Given the description of an element on the screen output the (x, y) to click on. 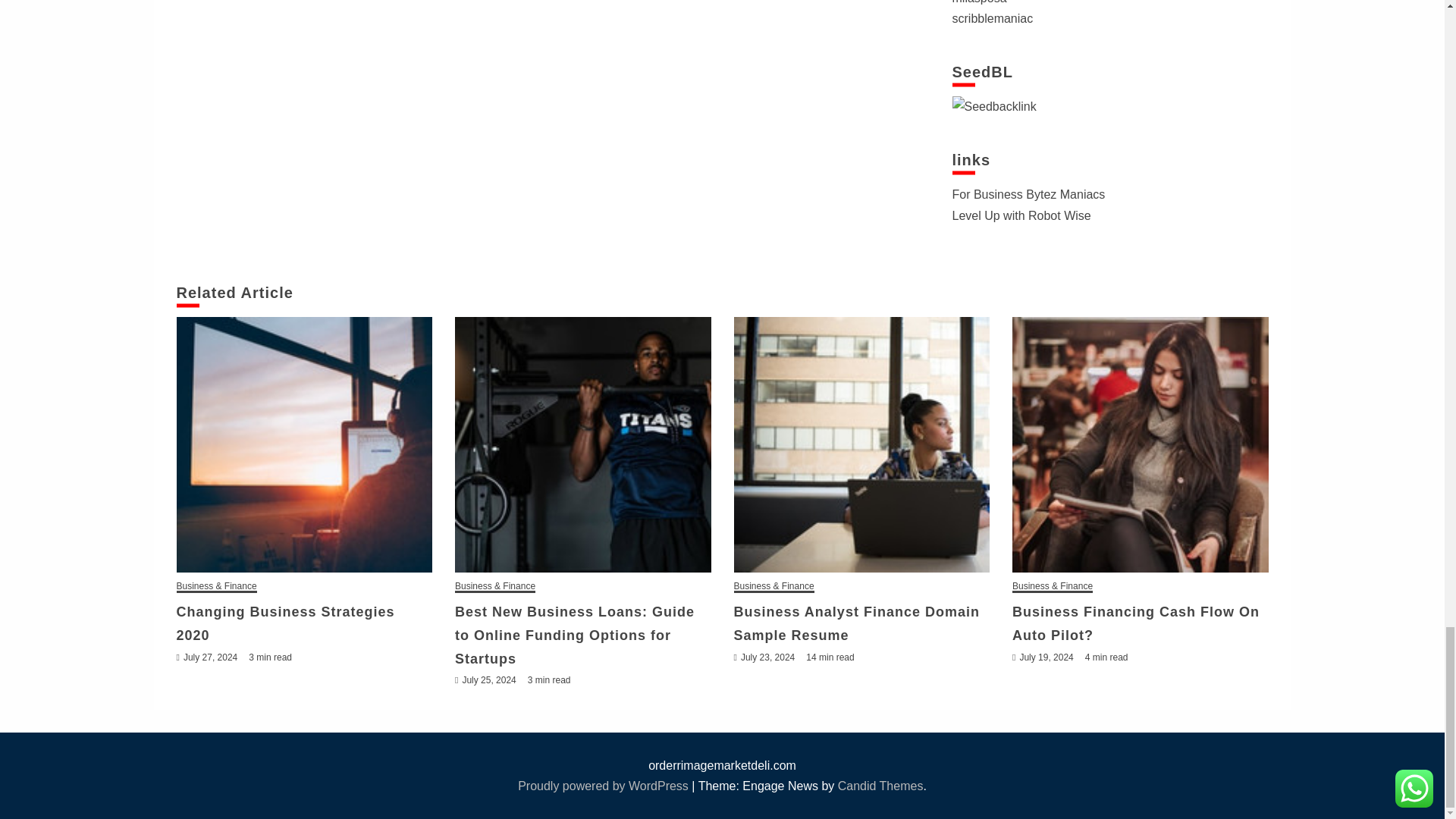
Changing Business Strategies 2020 (304, 444)
Business Financing Cash Flow On Auto Pilot? (1139, 444)
Seedbacklink (994, 106)
Business Analyst Finance Domain Sample Resume (861, 444)
